Given the description of an element on the screen output the (x, y) to click on. 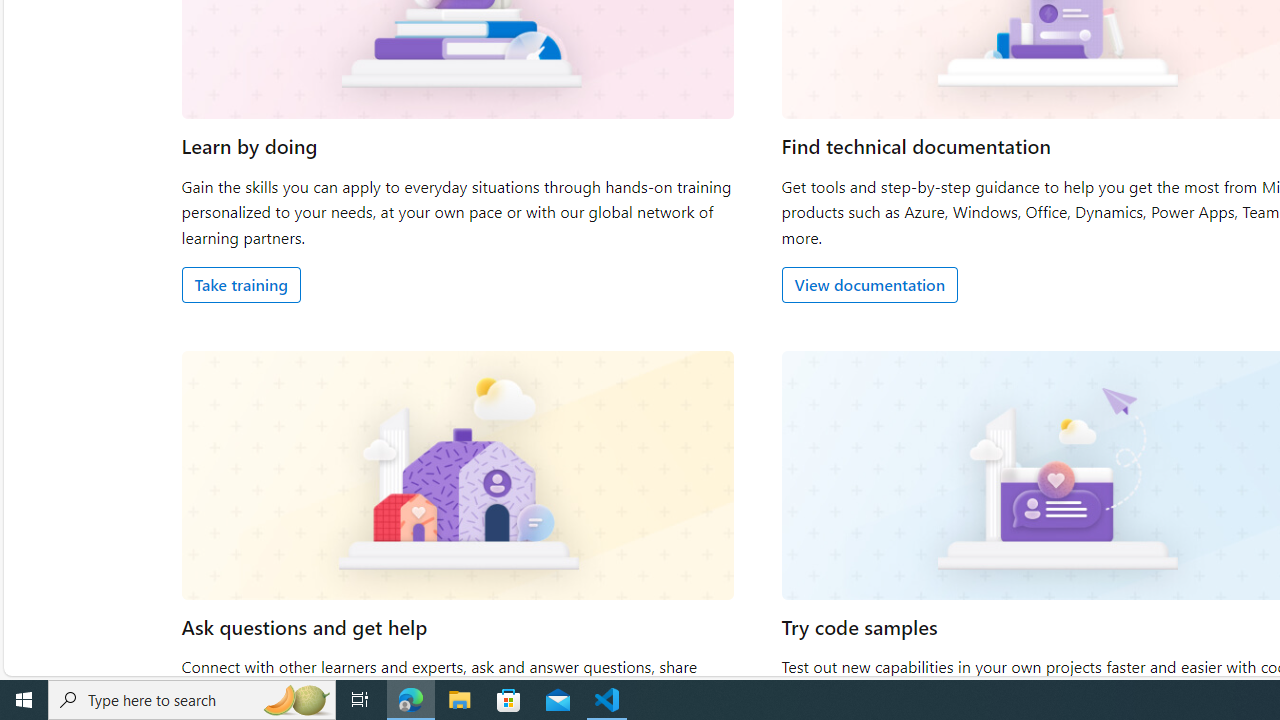
View documentation (868, 284)
Take training (240, 284)
